Given the description of an element on the screen output the (x, y) to click on. 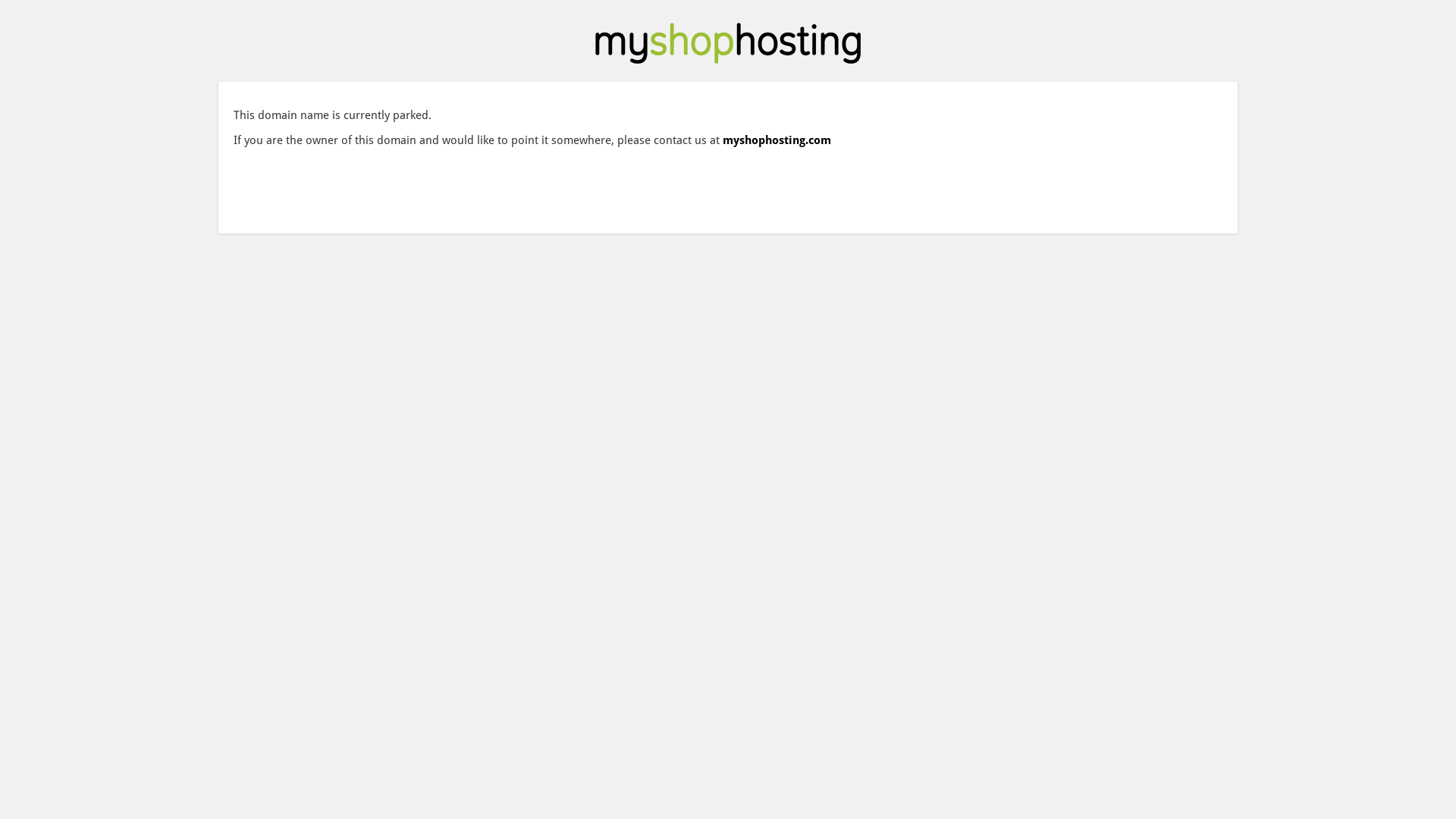
myshophosting.com Element type: text (776, 140)
